Given the description of an element on the screen output the (x, y) to click on. 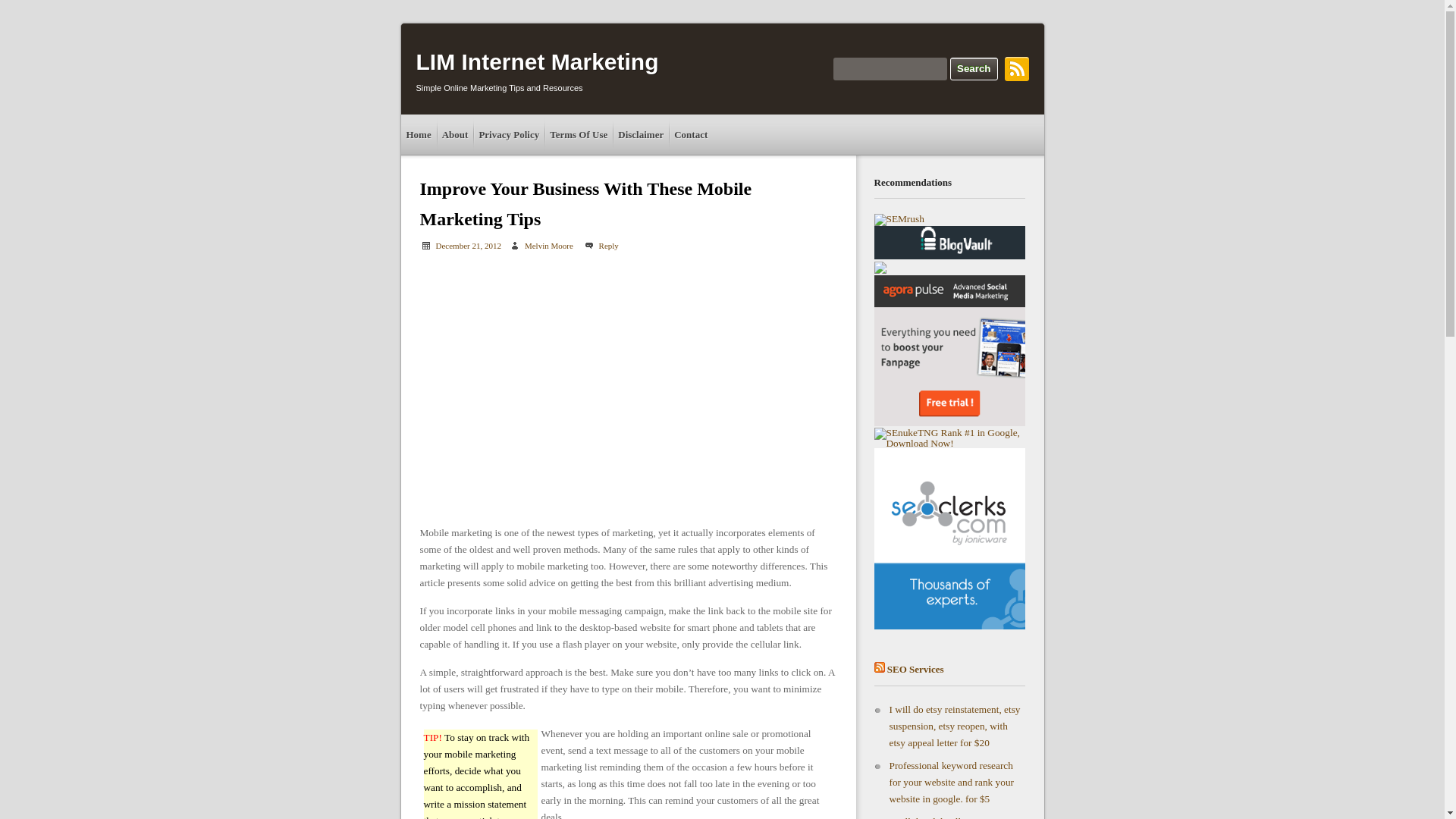
Privacy Policy (508, 134)
Disclaimer (640, 134)
8:46 am (467, 245)
Contact (690, 134)
About (455, 134)
LIM Internet Marketing (536, 61)
Home (417, 134)
Blogvault (949, 242)
Reply (600, 245)
Search (973, 68)
Melvin Moore (548, 245)
Terms Of Use (578, 134)
SEO Services (914, 668)
View all posts by Melvin Moore (548, 245)
December 21, 2012 (467, 245)
